Given the description of an element on the screen output the (x, y) to click on. 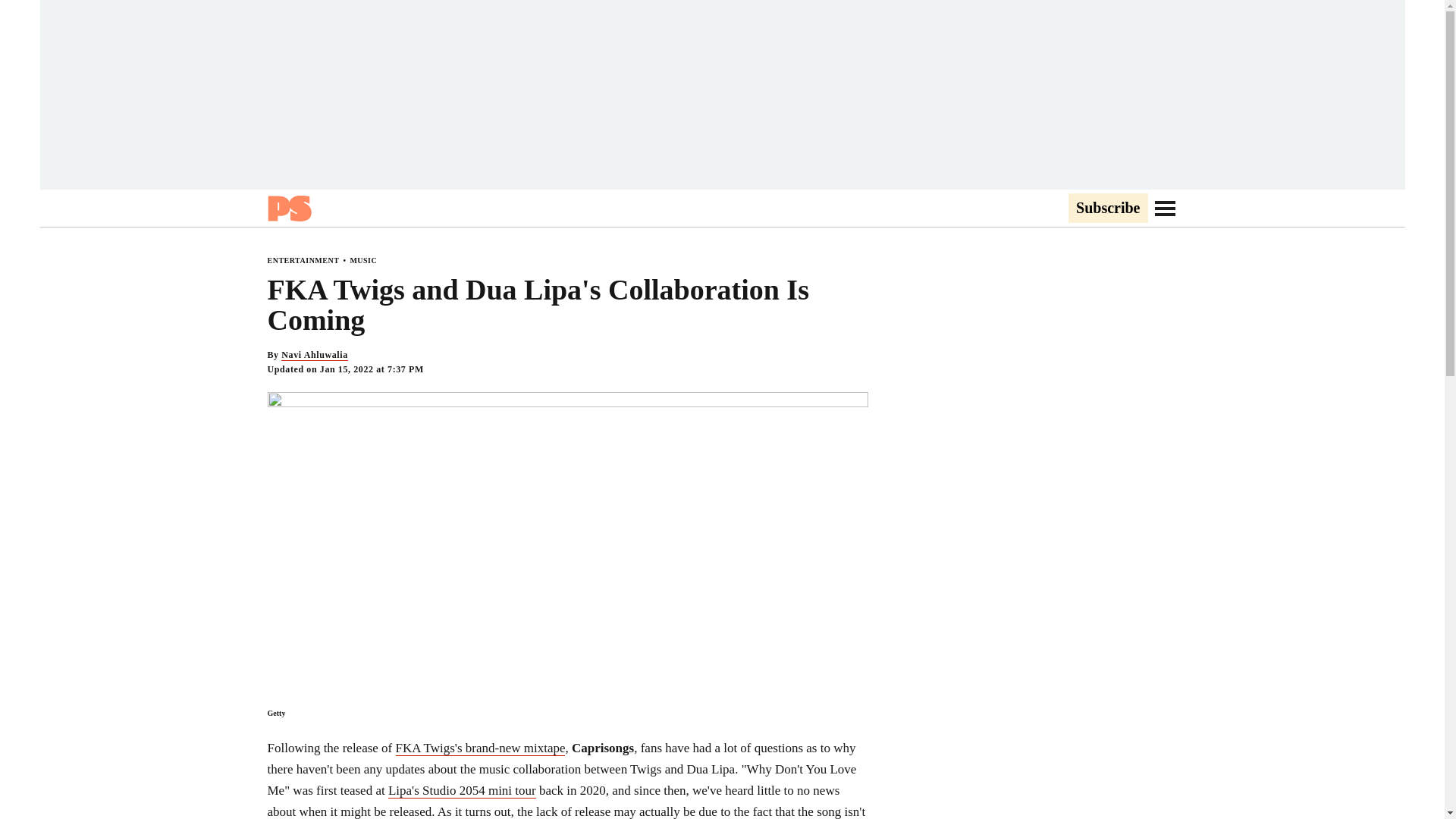
Go to Navigation (1164, 207)
MUSIC (363, 260)
Go to Navigation (1164, 207)
Getty (275, 713)
Popsugar (288, 208)
ENTERTAINMENT (302, 260)
Subscribe (1107, 208)
Lipa's Studio 2054 mini tour (461, 790)
Navi Ahluwalia (314, 355)
FKA Twigs's brand-new mixtape (481, 748)
